Given the description of an element on the screen output the (x, y) to click on. 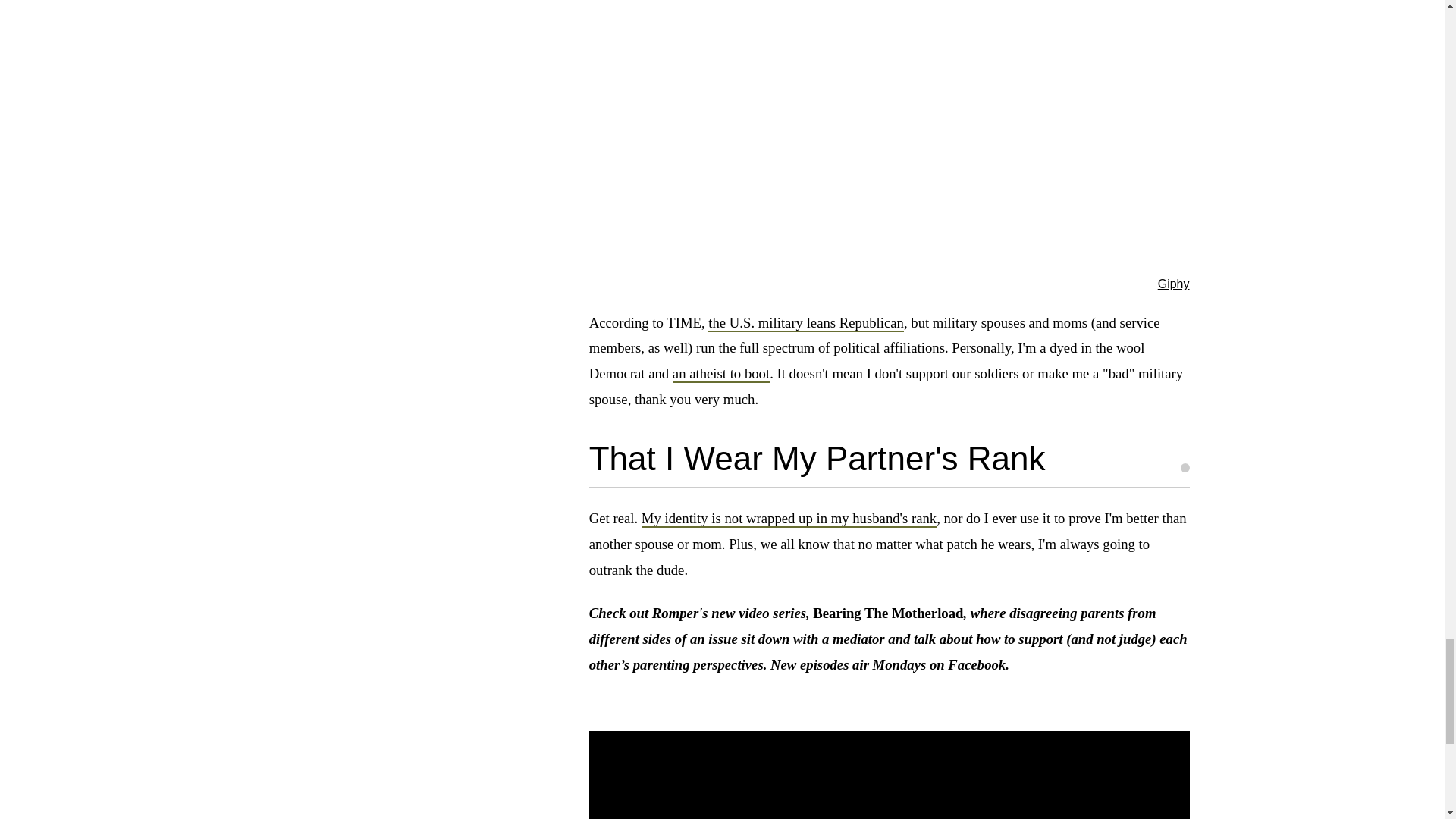
an atheist to boot (721, 374)
the U.S. military leans Republican (805, 323)
Giphy (1173, 283)
My identity is not wrapped up in my husband's rank (789, 518)
